Given the description of an element on the screen output the (x, y) to click on. 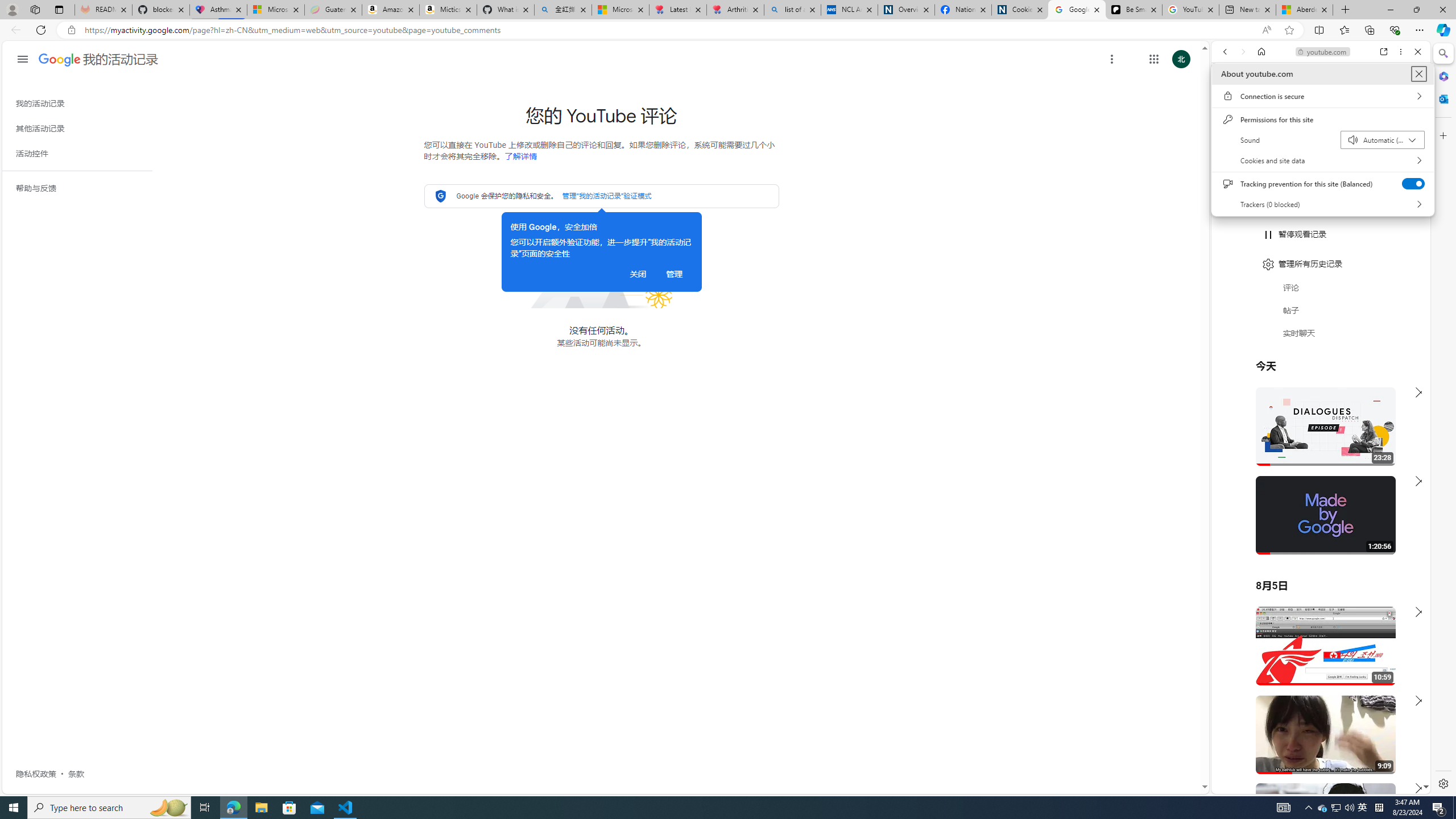
Q2790: 100% (1349, 807)
Visual Studio Code - 1 running window (345, 807)
Show desktop (1454, 807)
Be Smart | creating Science videos | Patreon (1133, 9)
Trailer #2 [HD] (1320, 337)
Show More Music (1390, 310)
Microsoft Edge - 1 running window (233, 807)
NCL Adult Asthma Inhaler Choice Guideline (849, 9)
Cookies (1019, 9)
